Given the description of an element on the screen output the (x, y) to click on. 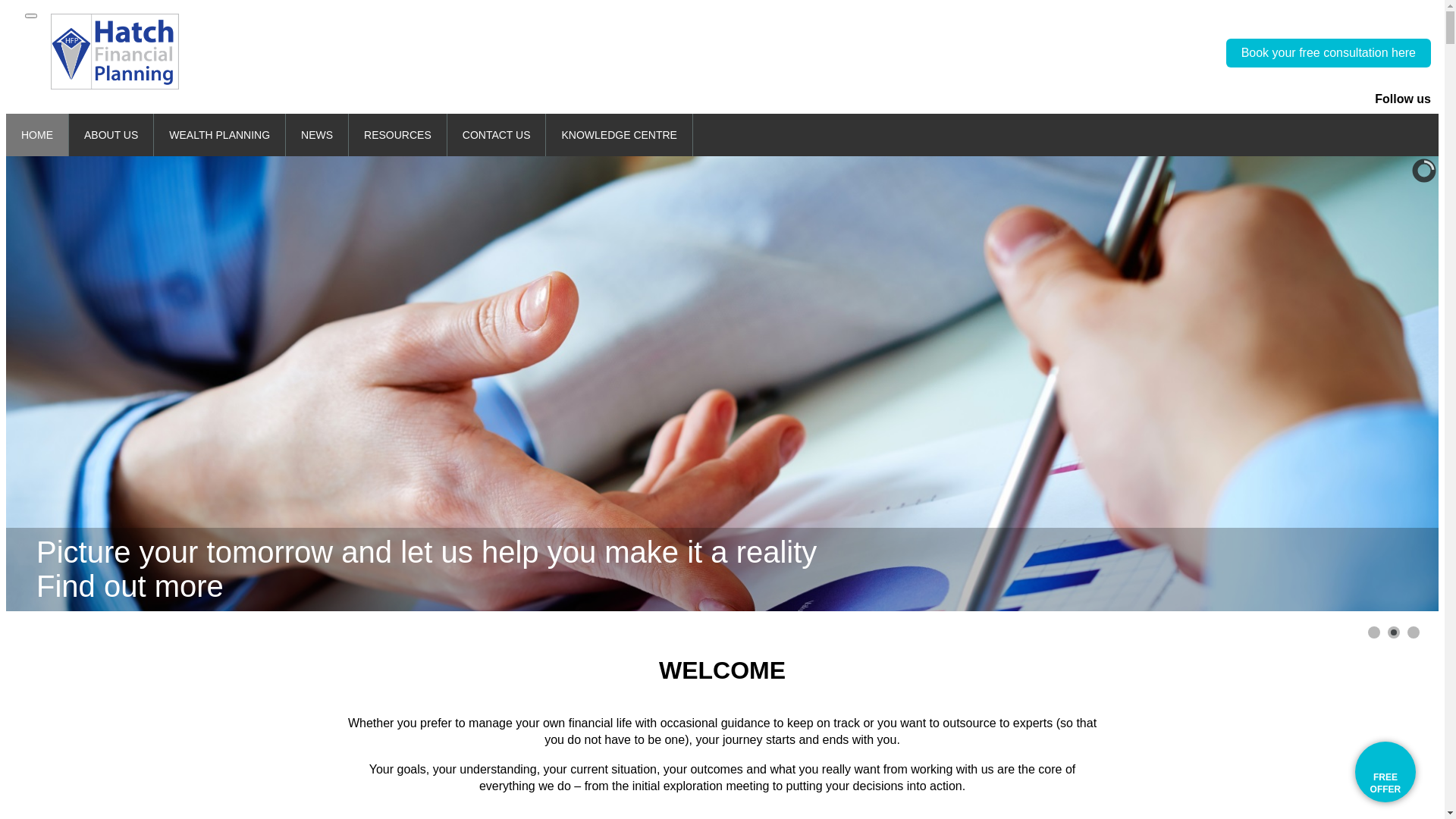
ABOUT US Element type: text (111, 134)
NEWS Element type: text (316, 134)
HOME Element type: text (37, 134)
KNOWLEDGE CENTRE Element type: text (618, 134)
WEALTH PLANNING Element type: text (219, 134)
Book your free consultation here Element type: text (1328, 52)
CONTACT US Element type: text (496, 134)
RESOURCES Element type: text (397, 134)
